Given the description of an element on the screen output the (x, y) to click on. 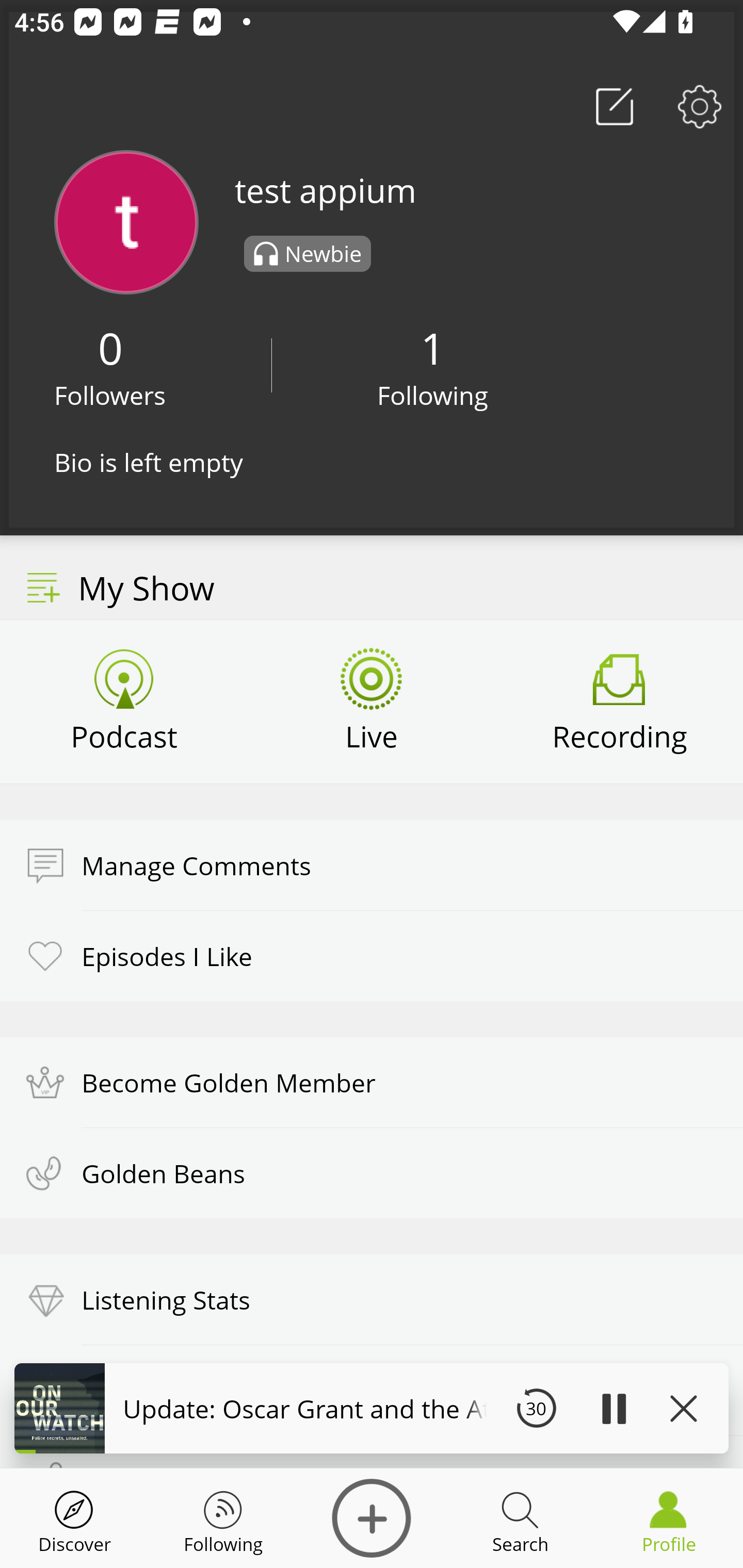
Settings (699, 106)
0 (110, 347)
1 (432, 347)
Followers (110, 394)
Following (432, 394)
Manage Comments (371, 865)
Episodes I Like (371, 955)
Become Golden Member (371, 1082)
Golden Beans (371, 1172)
Listening Stats (371, 1299)
Play (613, 1407)
30 Seek Backward (536, 1407)
Discover (74, 1518)
Discover Following (222, 1518)
Discover (371, 1518)
Discover Search (519, 1518)
